Given the description of an element on the screen output the (x, y) to click on. 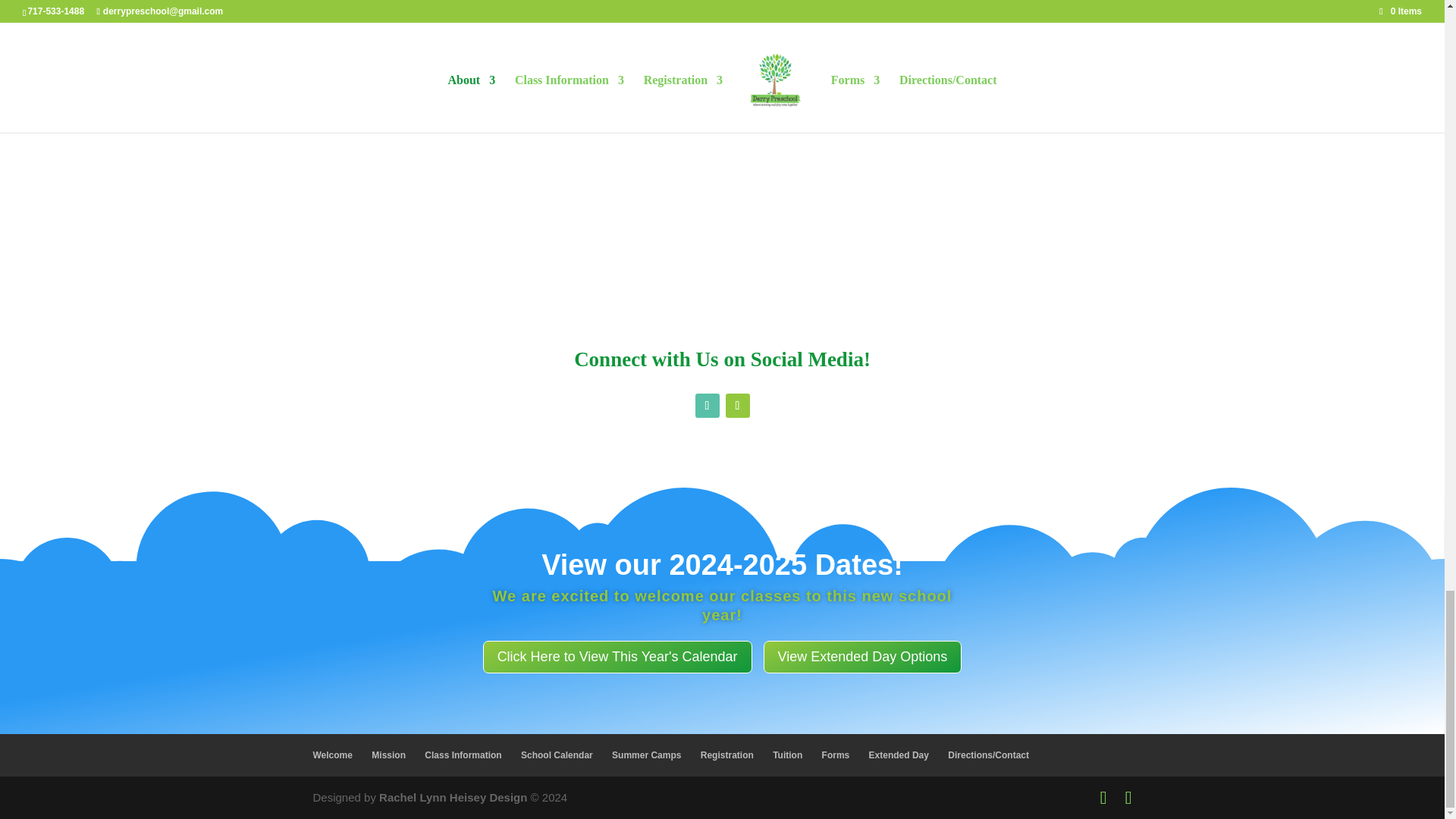
Mission (388, 755)
Follow on Facebook (706, 405)
Click Here to View This Year's Calendar (617, 656)
Welcome (332, 755)
Class Information (462, 755)
Follow on Instagram (737, 405)
View Extended Day Options (862, 656)
